Given the description of an element on the screen output the (x, y) to click on. 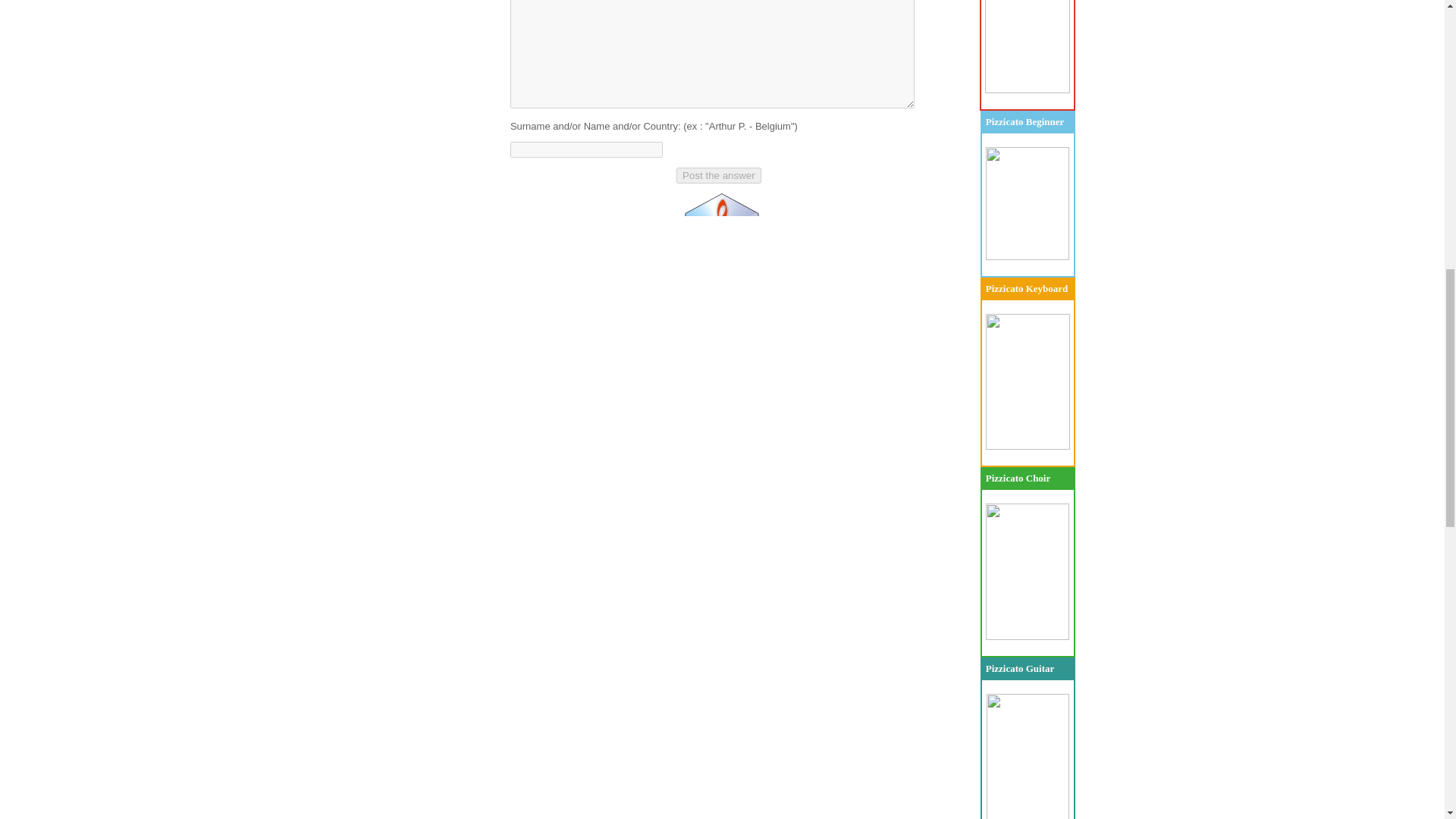
Post the answer (719, 175)
Discover Pizzicato Composition Pro... (1027, 89)
Post the answer (719, 175)
